Given the description of an element on the screen output the (x, y) to click on. 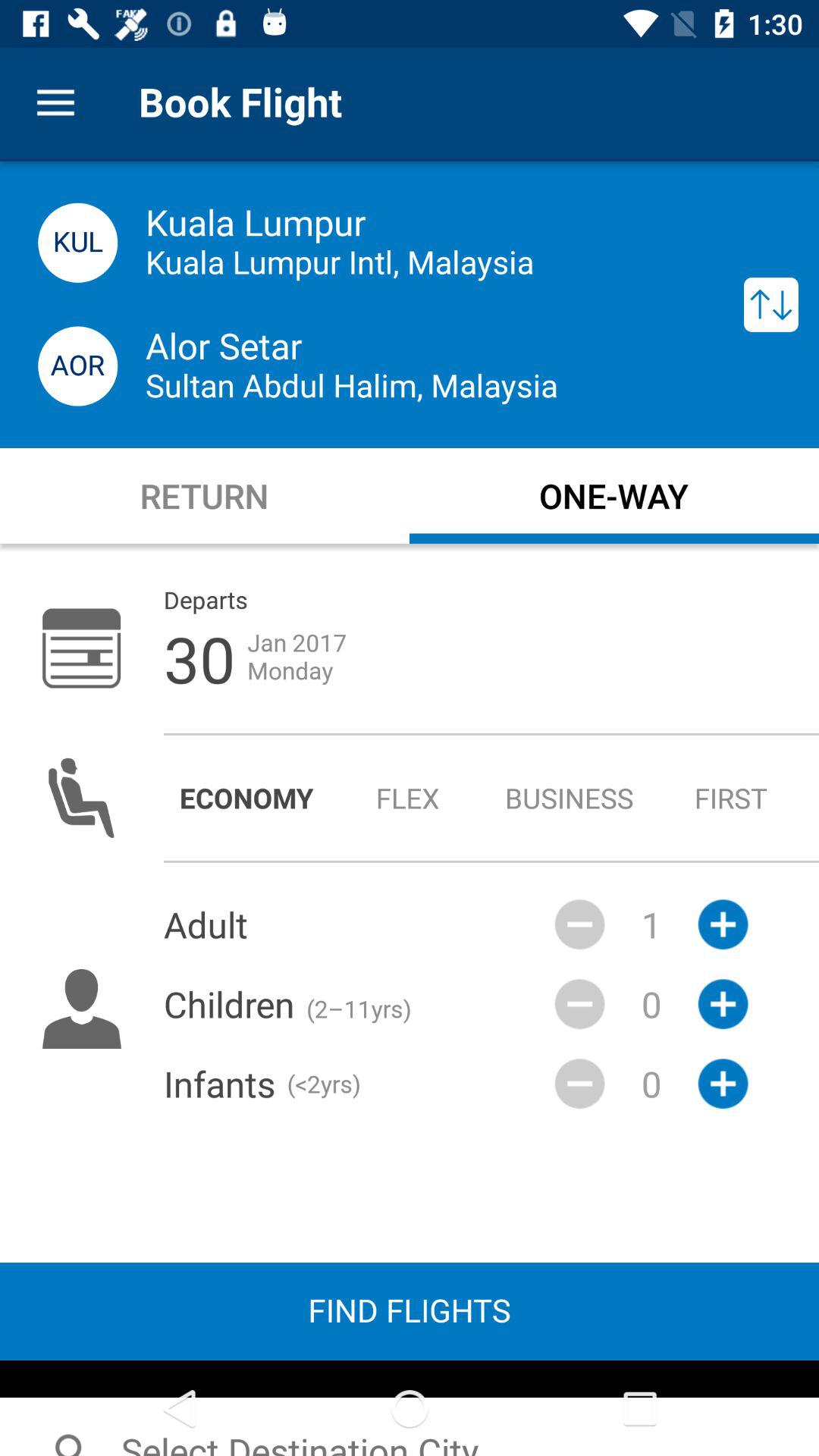
flip until the economy icon (246, 797)
